Given the description of an element on the screen output the (x, y) to click on. 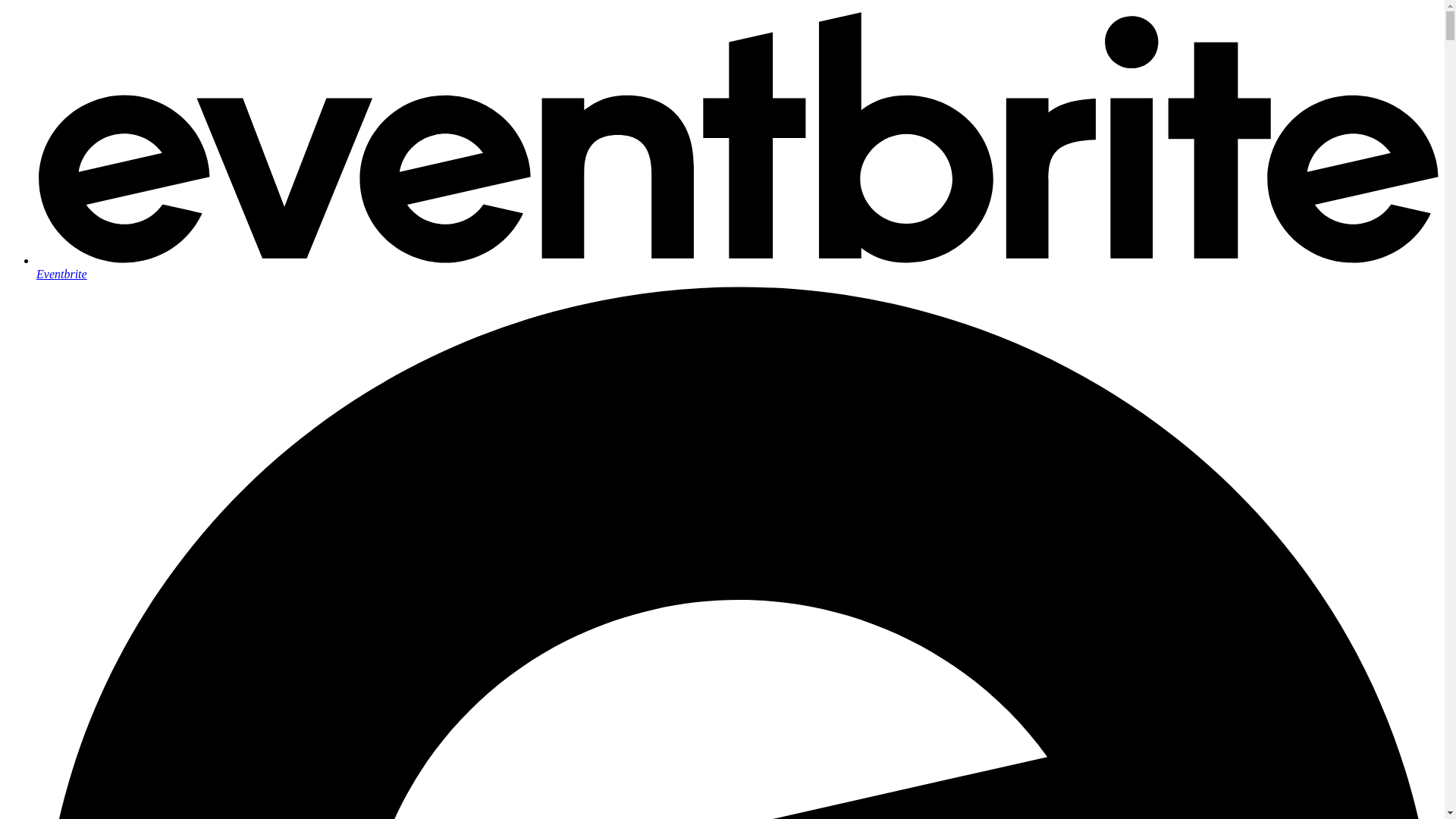
Eventbrite Element type: text (737, 267)
